Given the description of an element on the screen output the (x, y) to click on. 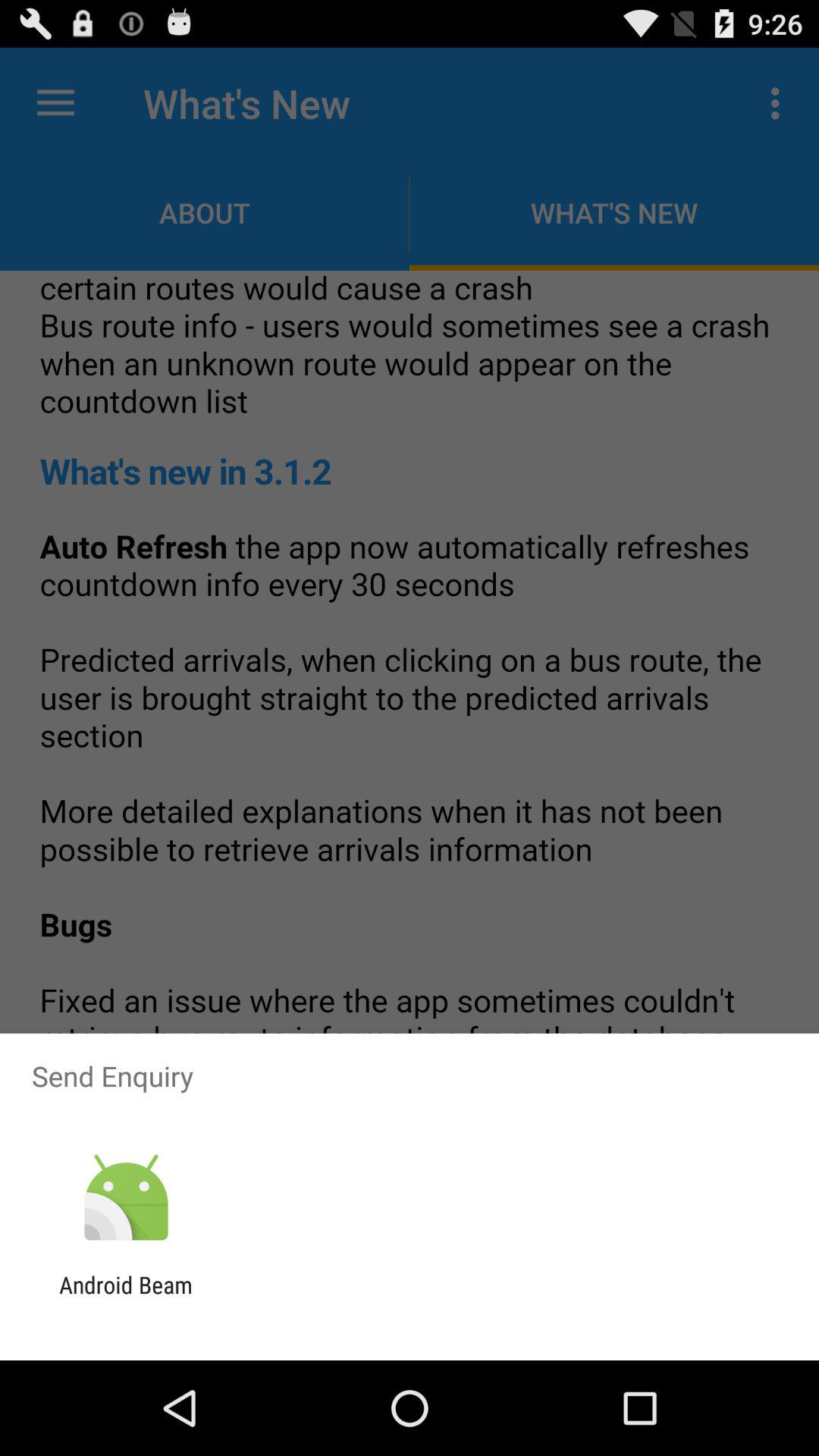
choose the icon above the android beam item (126, 1198)
